Given the description of an element on the screen output the (x, y) to click on. 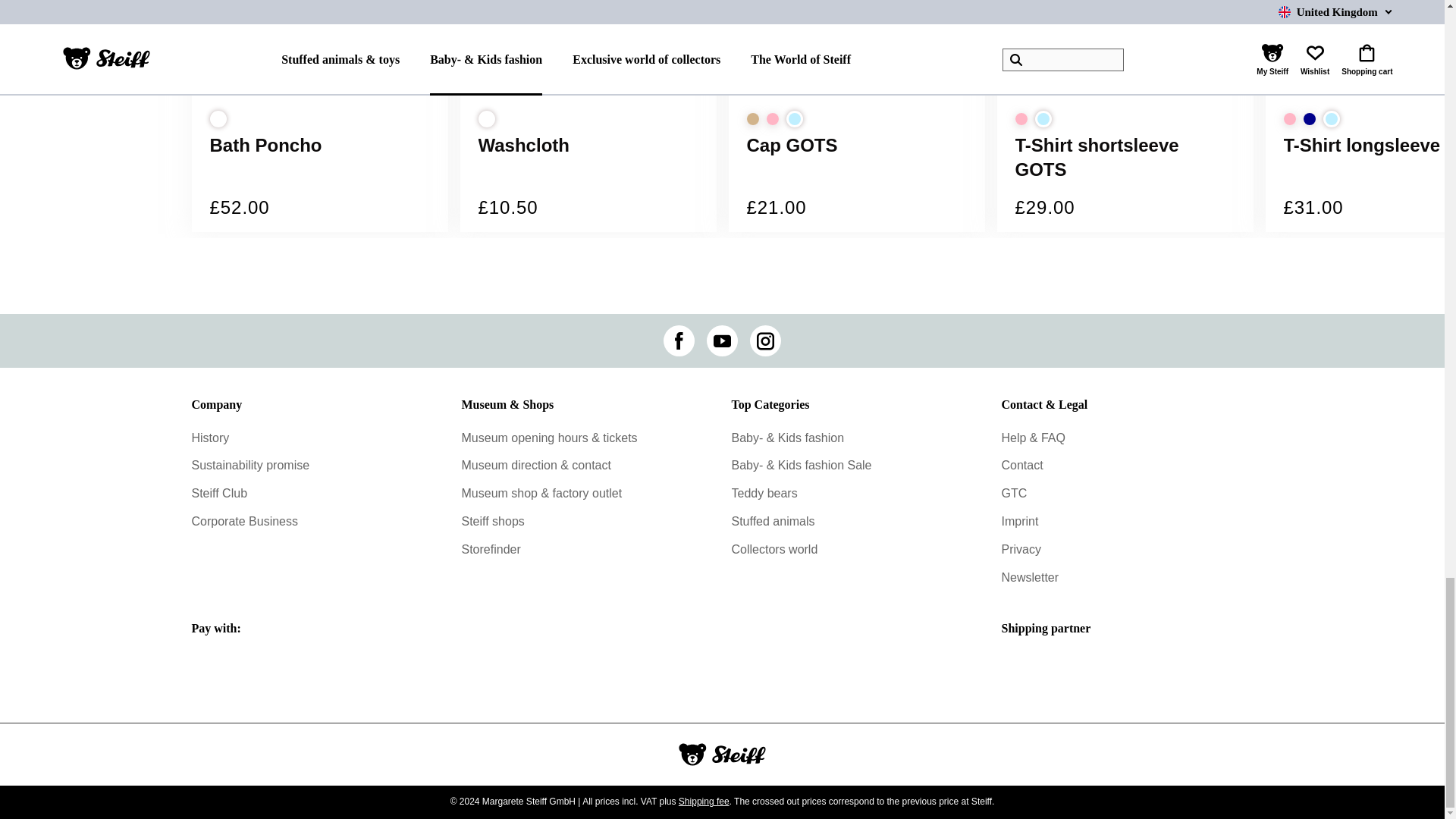
rose (771, 119)
rose (1020, 119)
white (486, 118)
light blue (1330, 118)
light blue (794, 118)
rose (1288, 119)
beige (751, 119)
dark blue (1308, 119)
light blue (1042, 118)
white (217, 118)
